Given the description of an element on the screen output the (x, y) to click on. 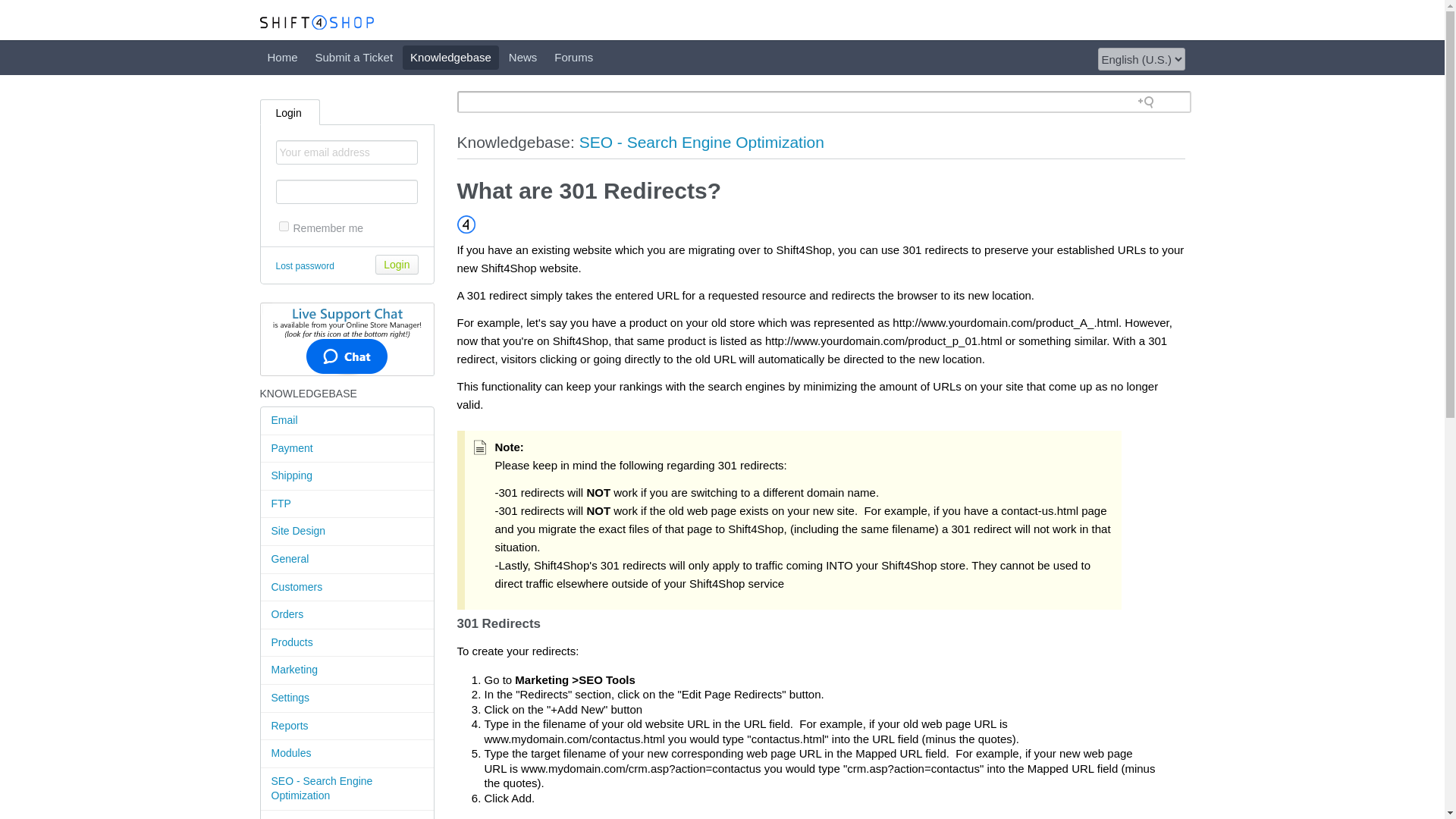
Knowledgebase (451, 57)
SEO - Search Engine Optimization (346, 789)
Login (396, 264)
FTP (346, 504)
Payment (346, 448)
Products (346, 643)
Orders (346, 615)
General (346, 560)
Email (346, 420)
SEO - Search Engine Optimization (701, 141)
